Given the description of an element on the screen output the (x, y) to click on. 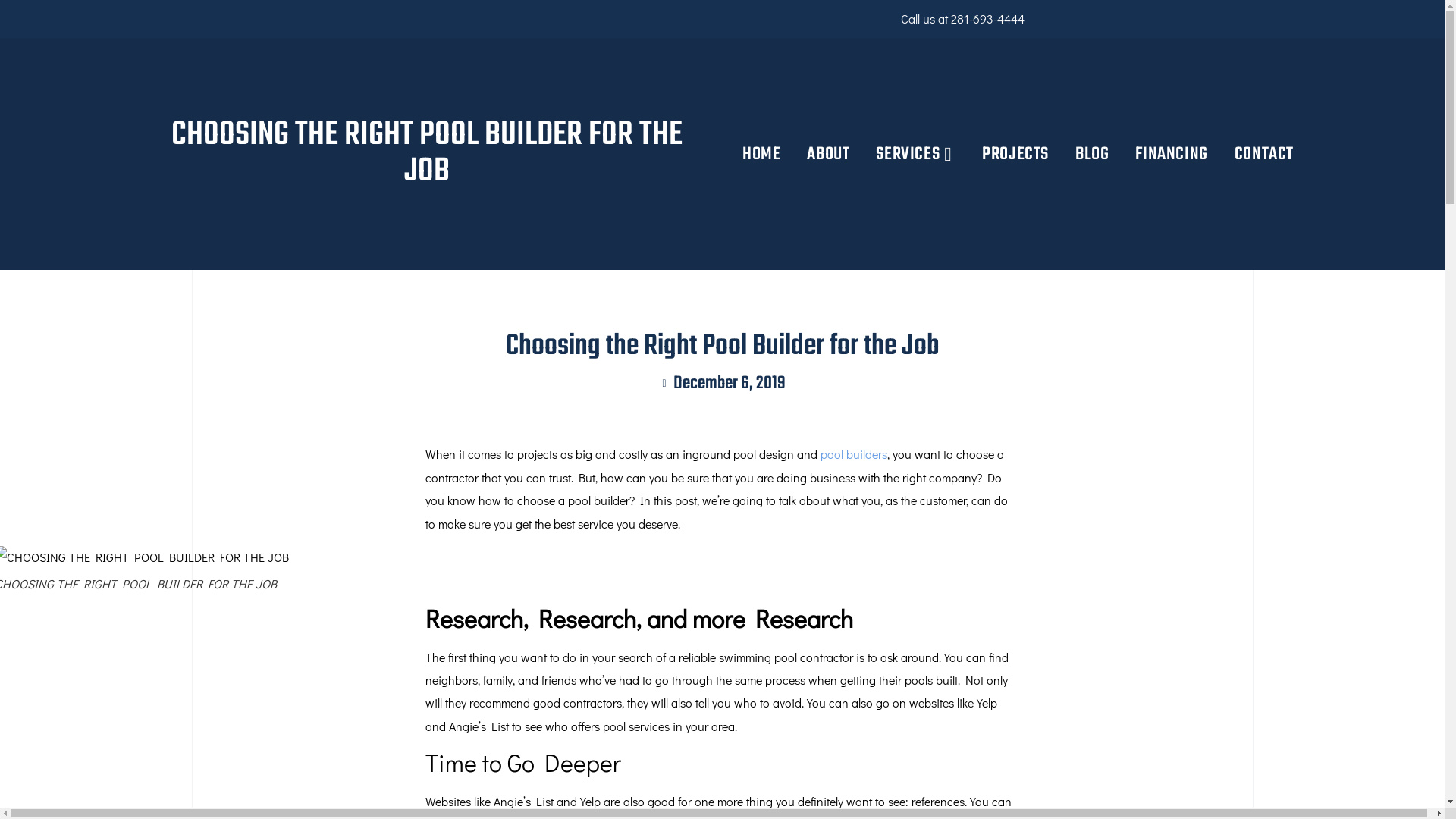
PROJECTS Element type: text (1015, 154)
pool builders Element type: text (853, 453)
SERVICES Element type: text (915, 154)
FINANCING Element type: text (1171, 154)
BLOG Element type: text (1091, 154)
HOME Element type: text (764, 154)
ABOUT Element type: text (828, 154)
December 6, 2019 Element type: text (721, 383)
CONTACT Element type: text (1260, 154)
